Given the description of an element on the screen output the (x, y) to click on. 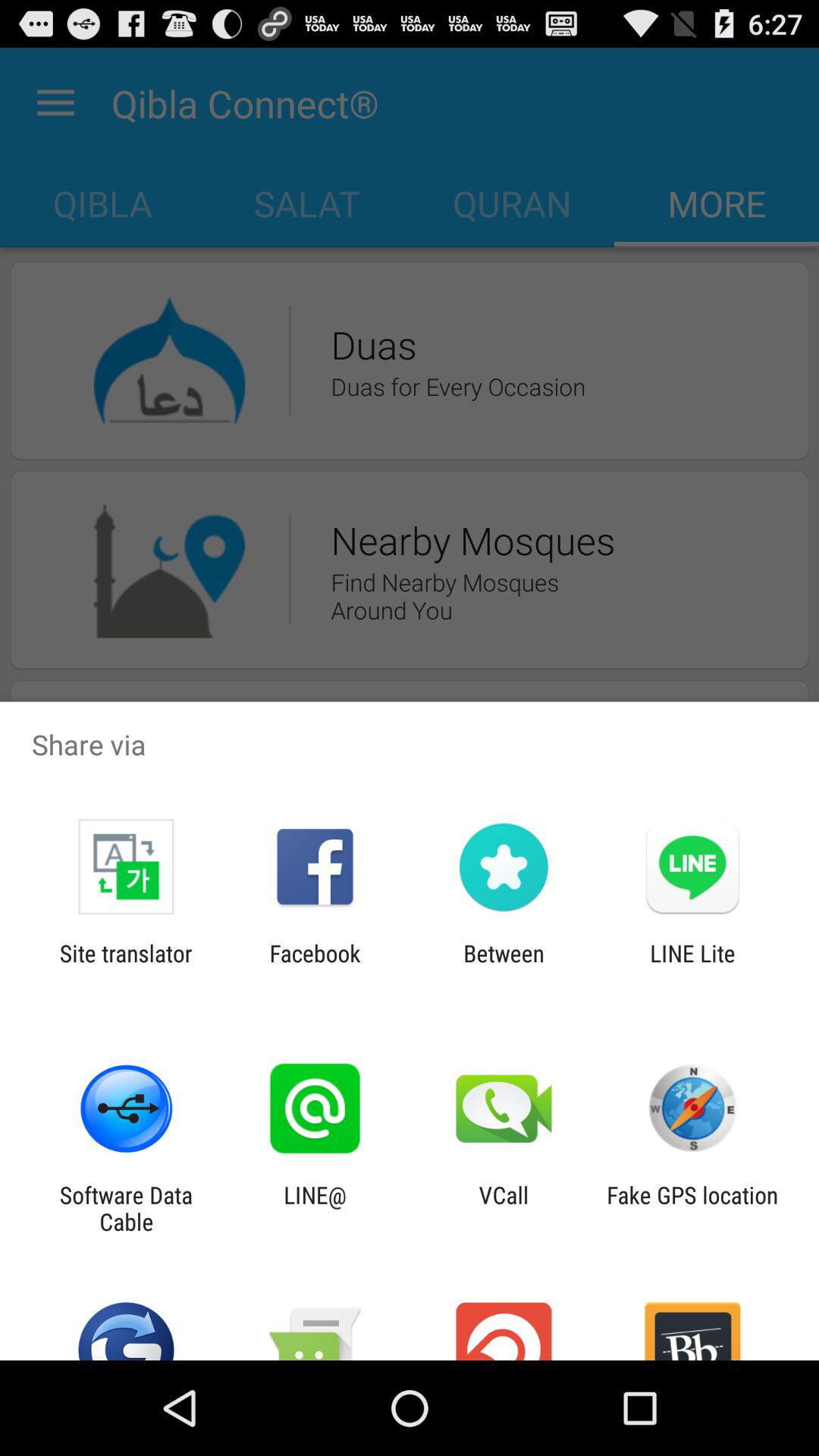
click item to the left of between (314, 966)
